Given the description of an element on the screen output the (x, y) to click on. 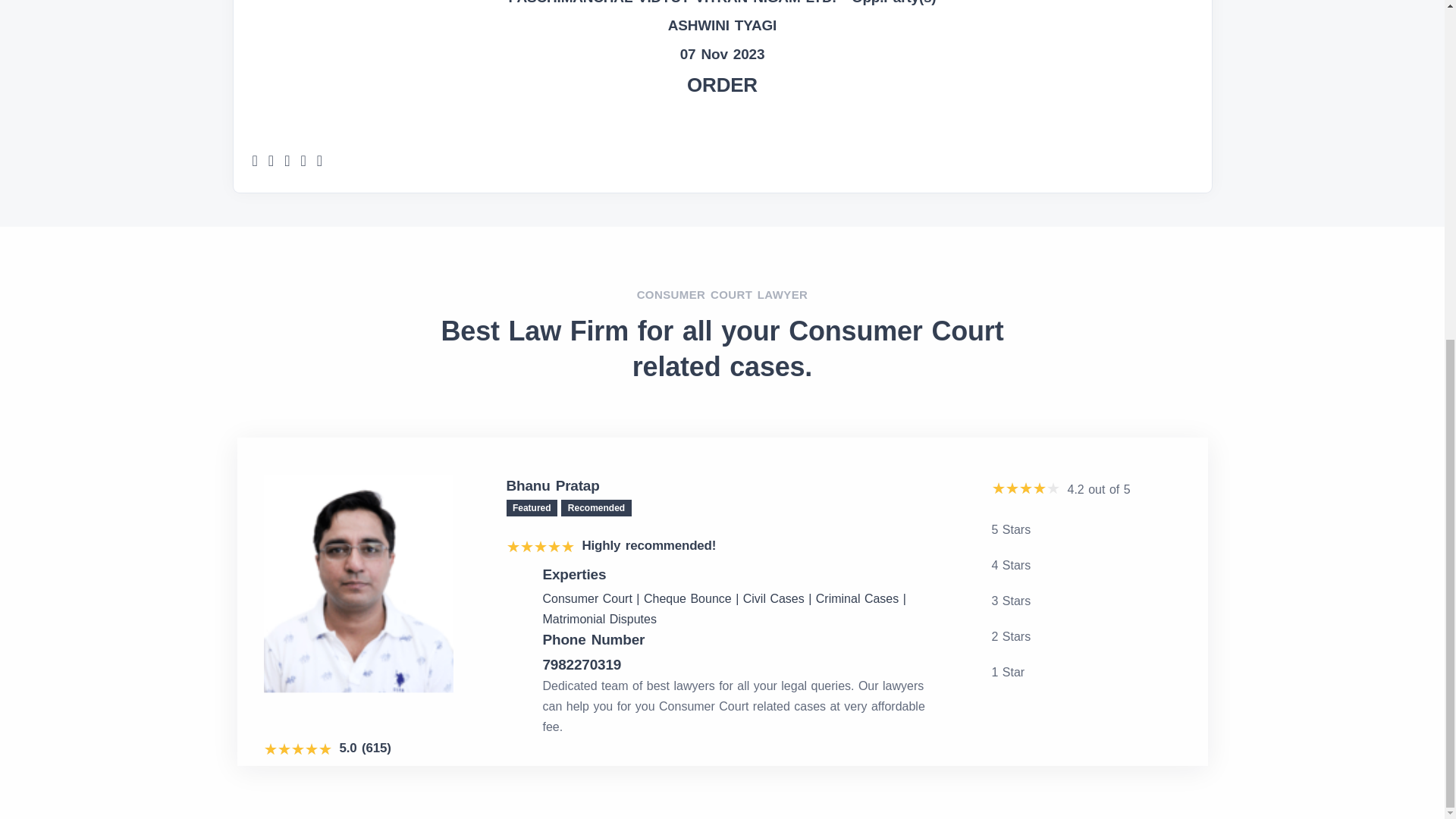
7982270319 (741, 664)
